Given the description of an element on the screen output the (x, y) to click on. 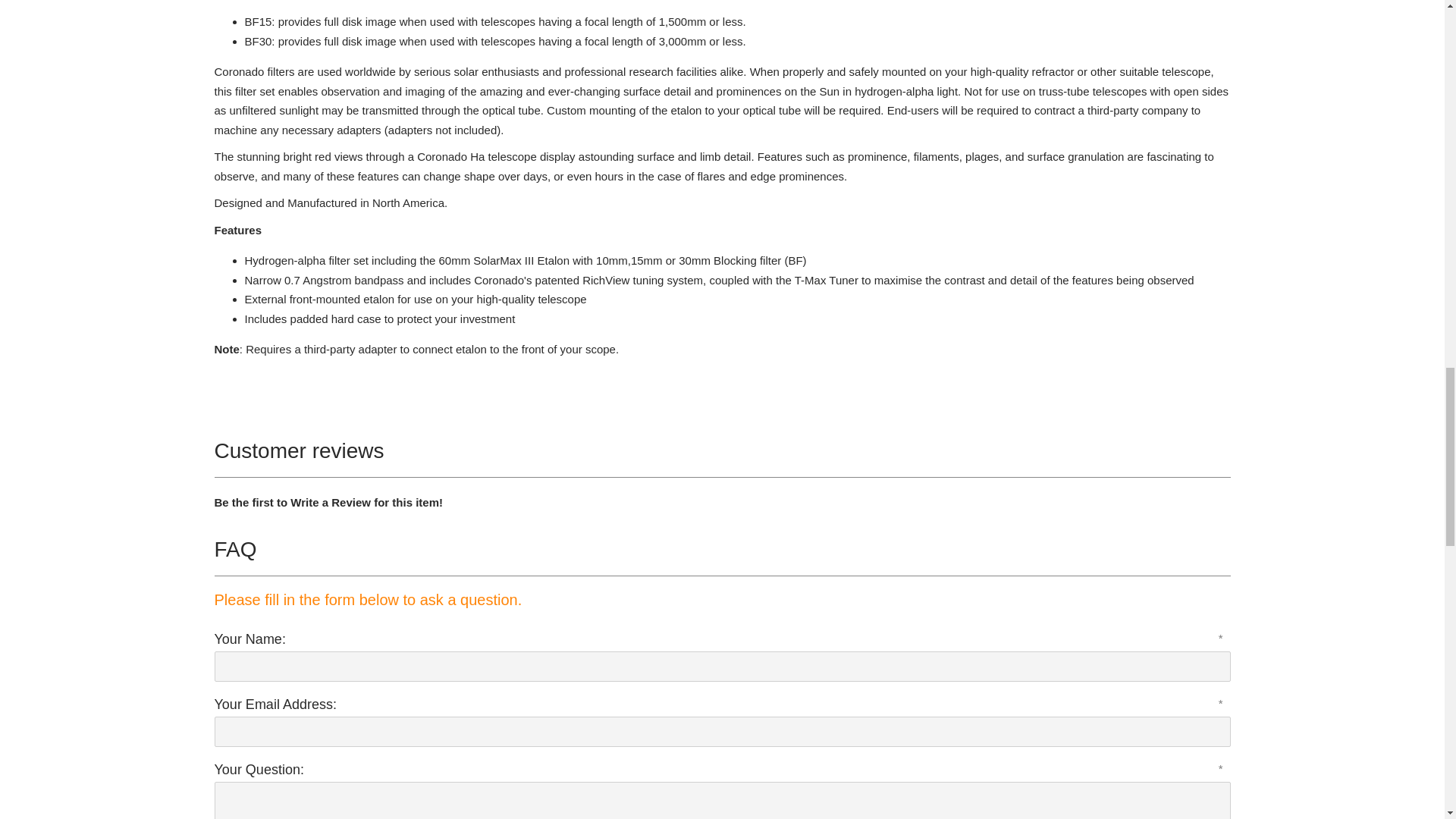
Page 1 (722, 31)
Write a Review (330, 502)
